Given the description of an element on the screen output the (x, y) to click on. 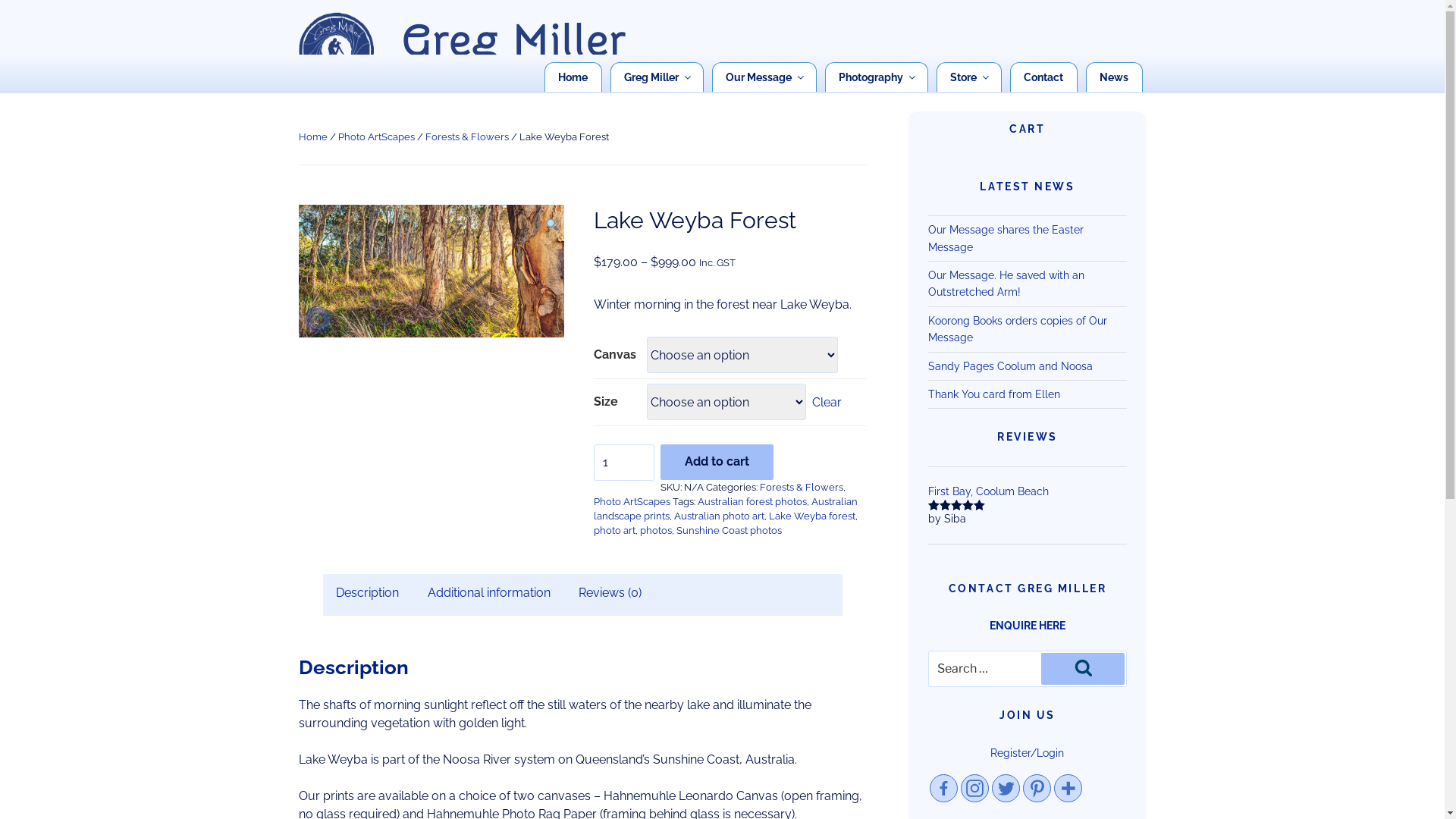
Thank You card from Ellen Element type: text (994, 394)
Our Message Element type: text (763, 76)
Lake Weyba forest Element type: text (811, 515)
Koorong Books orders copies of Our Message Element type: text (1017, 328)
Store Element type: text (969, 76)
Home Element type: text (572, 76)
Twitter Element type: hover (1005, 788)
photo art Element type: text (614, 530)
By the lake. Lake Weyba morning, Sunshine Coast, Queensland Element type: hover (431, 270)
Greg Miller Element type: text (656, 76)
photos Element type: text (655, 530)
Register/Login Element type: text (1026, 752)
Our Message. He saved with an Outstretched Arm! Element type: text (1006, 283)
Search Element type: text (1082, 668)
Photography Element type: text (875, 76)
Australian photo art Element type: text (719, 515)
First Bay, Coolum Beach Element type: text (1027, 491)
Forests & Flowers Element type: text (801, 486)
Australian forest photos Element type: text (751, 501)
Pinterest Element type: hover (1036, 788)
Contact Element type: text (1043, 76)
Description Element type: text (366, 592)
News Element type: text (1113, 76)
Add to cart Element type: text (716, 462)
Photo ArtScapes Element type: text (631, 501)
Our Message shares the Easter Message Element type: text (1005, 237)
Forests & Flowers Element type: text (466, 136)
More Element type: hover (1068, 788)
ENQUIRE HERE Element type: text (1027, 625)
Greg Miller Element type: text (513, 41)
Photo ArtScapes Element type: text (376, 136)
Instagram Element type: hover (974, 788)
Sunshine Coast photos Element type: text (728, 530)
Australian landscape prints Element type: text (725, 508)
Sandy Pages Coolum and Noosa Element type: text (1010, 366)
Additional information Element type: text (488, 592)
Facebook Element type: hover (943, 788)
Clear Element type: text (826, 402)
Reviews (0) Element type: text (609, 592)
Home Element type: text (312, 136)
